Given the description of an element on the screen output the (x, y) to click on. 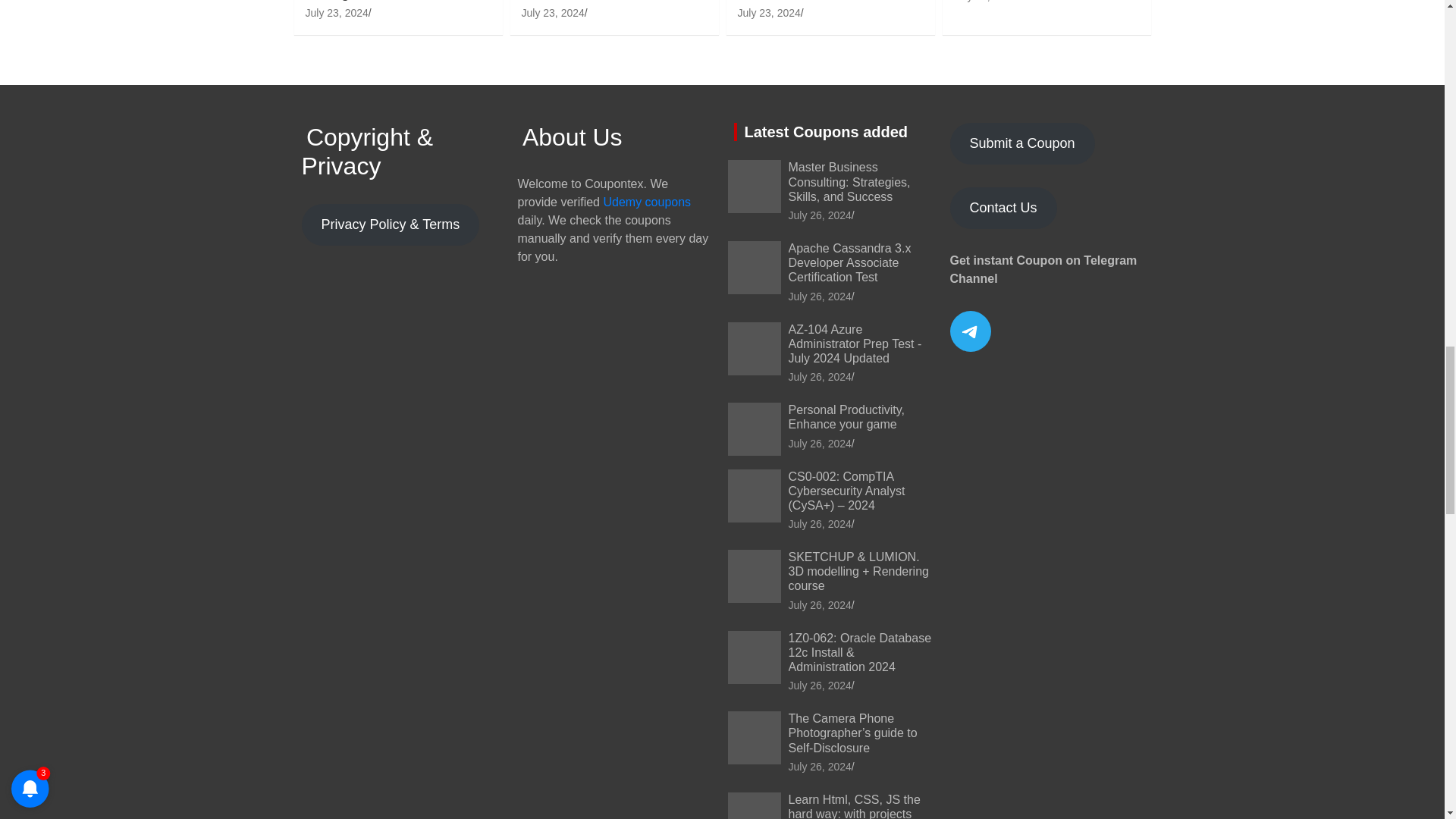
Textile Industry, Manufacturing and Business Management 2.0 (336, 12)
